Given the description of an element on the screen output the (x, y) to click on. 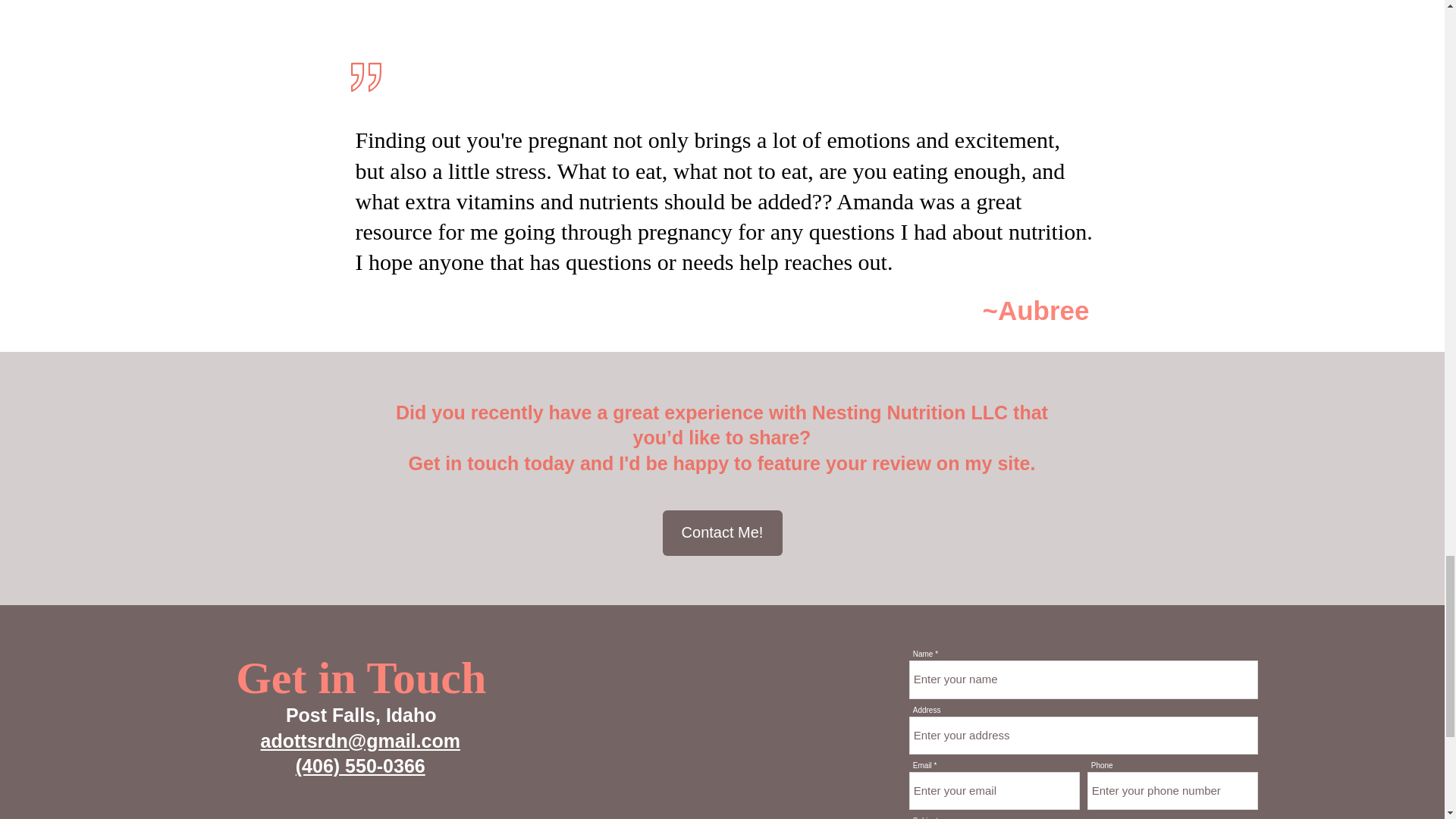
Contact Me! (722, 533)
